Given the description of an element on the screen output the (x, y) to click on. 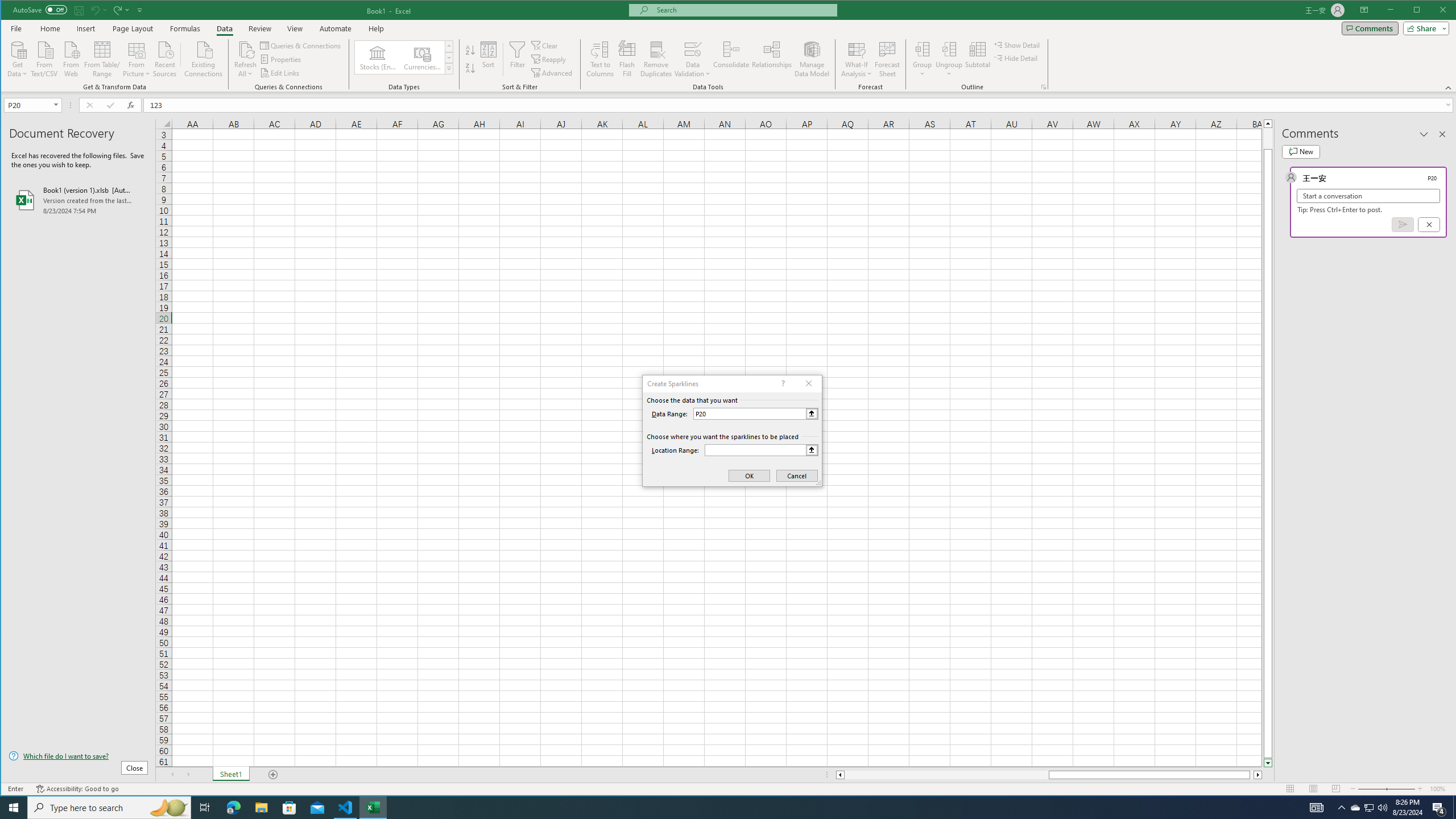
Recent Sources (164, 57)
Get Data (17, 57)
Queries & Connections (301, 45)
